Given the description of an element on the screen output the (x, y) to click on. 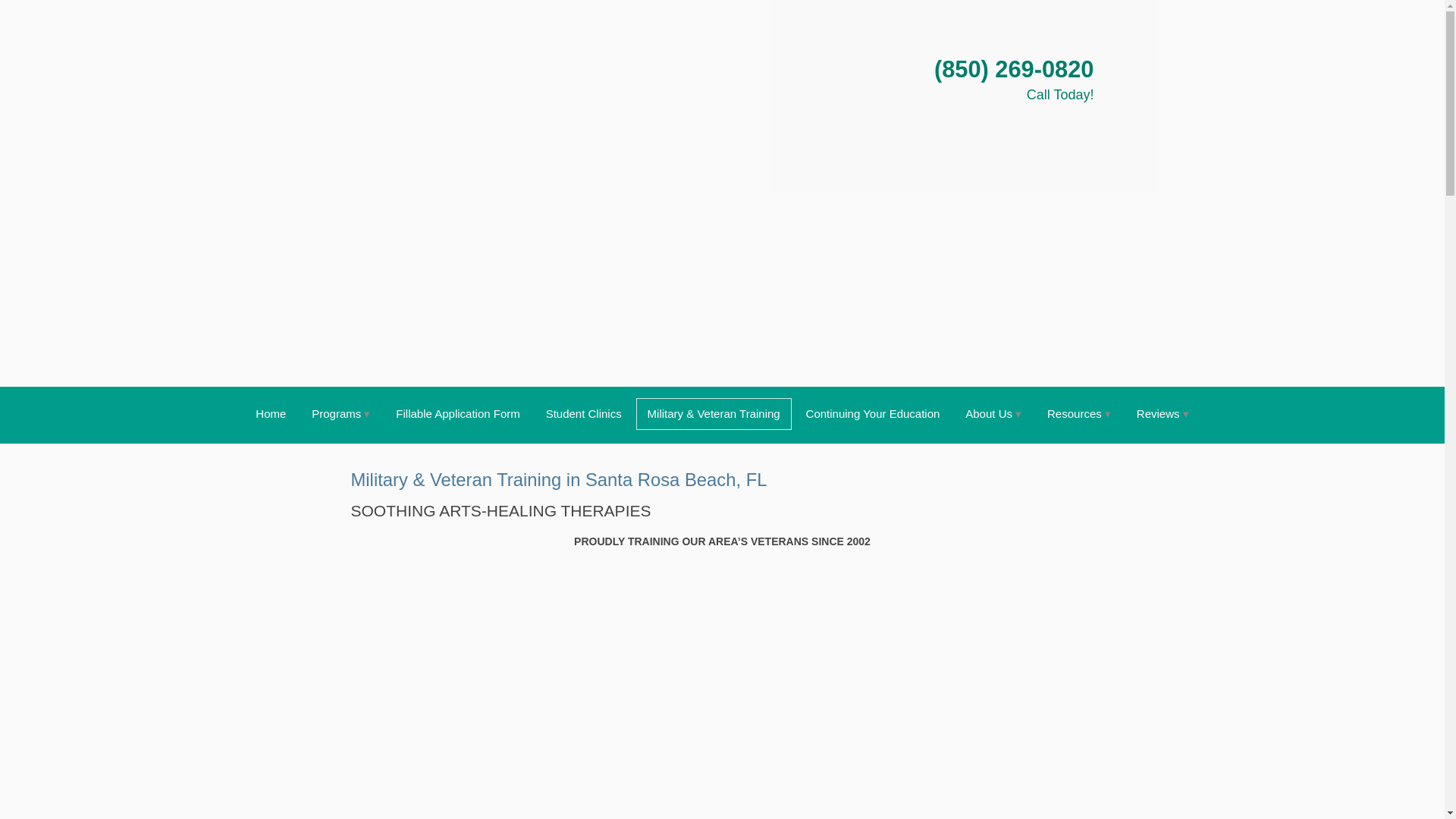
Programs (340, 413)
Fillable Application Form (457, 413)
Continuing Your Education (873, 413)
Application for Admission (457, 413)
Reviews (1162, 413)
Student Clinics (583, 413)
About Us (992, 413)
Home (270, 413)
Resources (1078, 413)
